Given the description of an element on the screen output the (x, y) to click on. 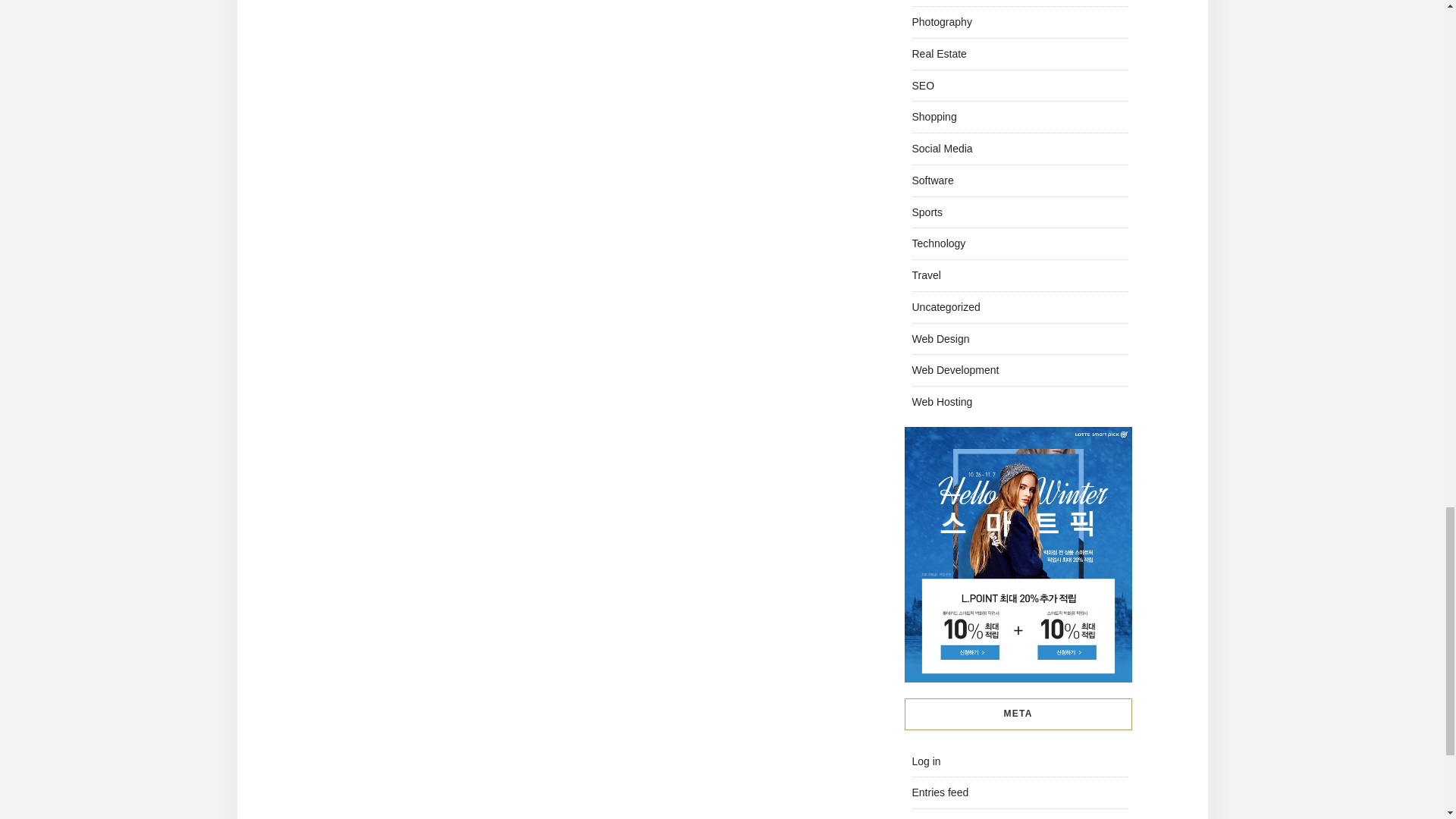
Photography (941, 21)
